Given the description of an element on the screen output the (x, y) to click on. 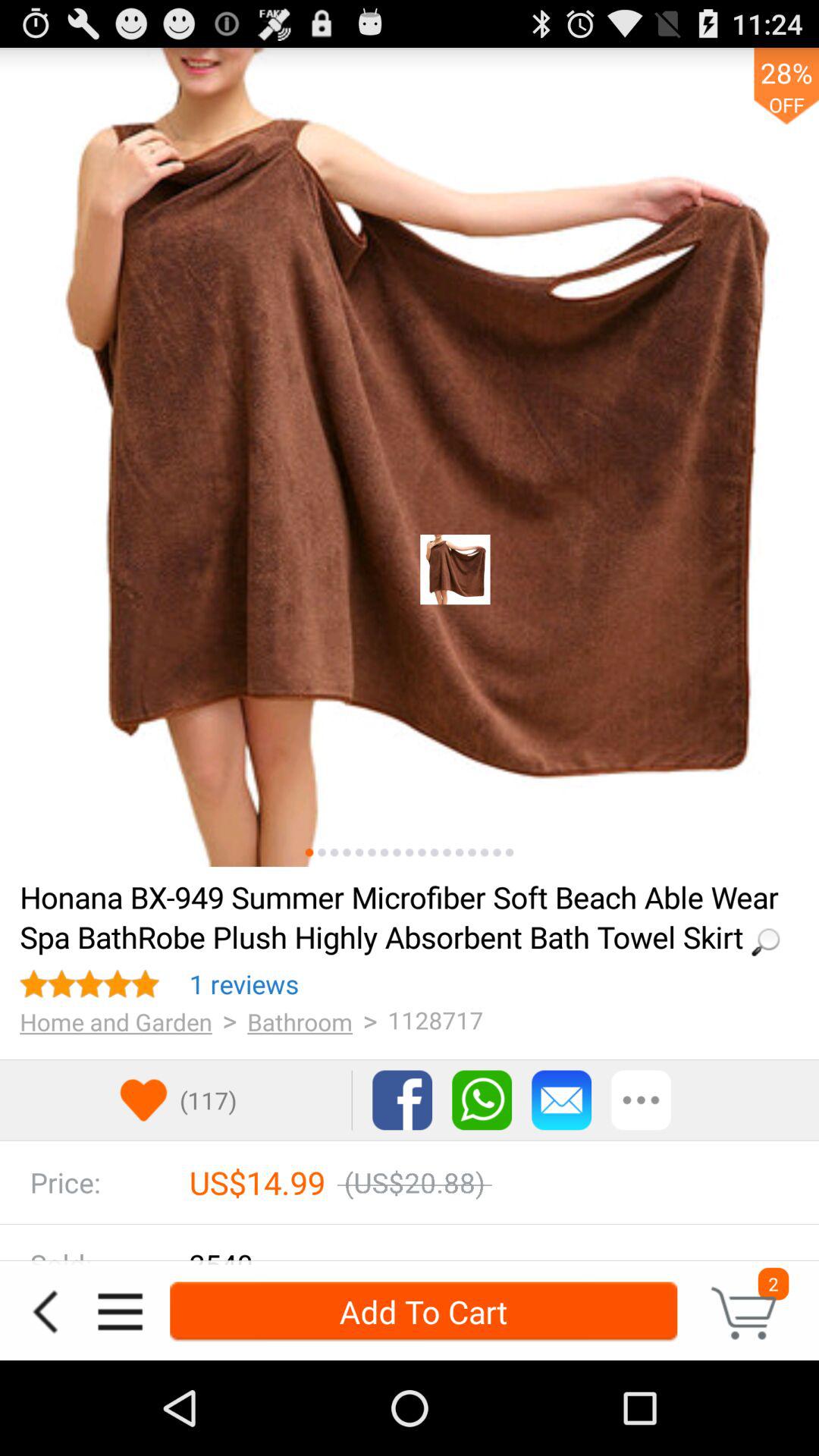
choose the icon above loading... (421, 852)
